Given the description of an element on the screen output the (x, y) to click on. 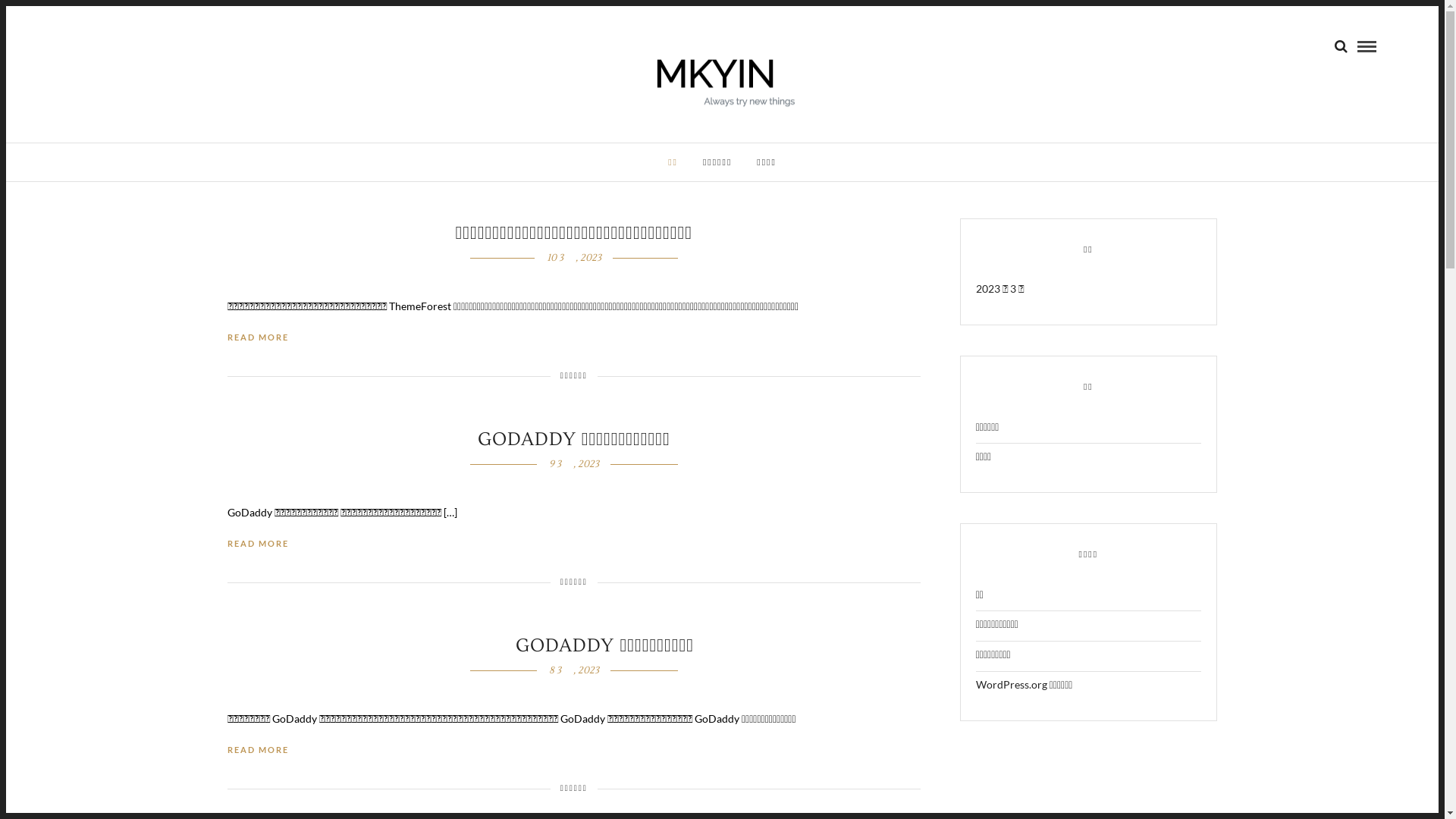
READ MORE Element type: text (257, 543)
READ MORE Element type: text (257, 750)
READ MORE Element type: text (257, 337)
